Given the description of an element on the screen output the (x, y) to click on. 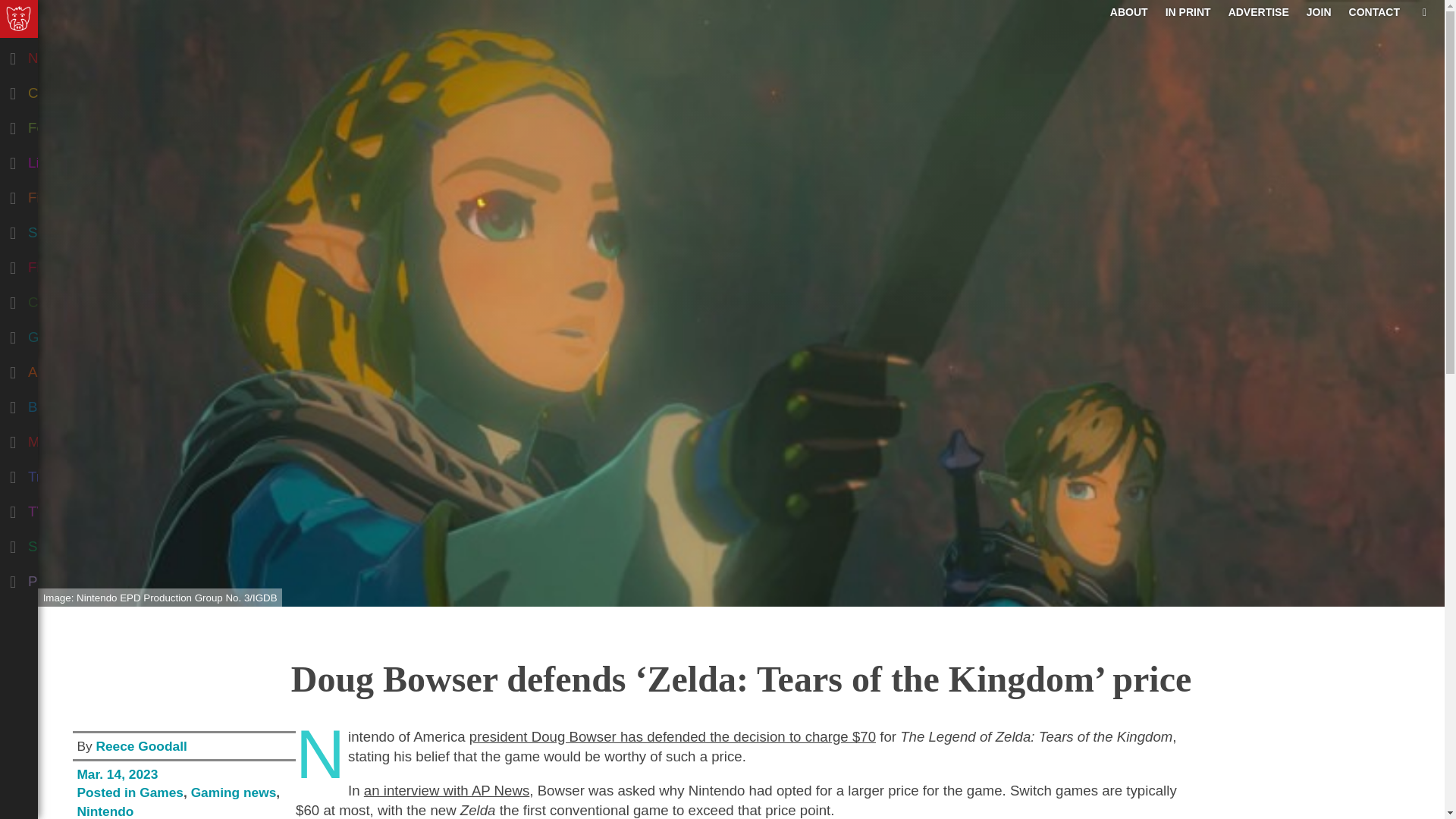
TV (79, 508)
Podcasts (79, 578)
Games (161, 792)
Comment (79, 89)
Finance (79, 194)
Travel (79, 473)
Arts (79, 369)
ABOUT (1128, 11)
Music (79, 438)
Games (79, 334)
